Given the description of an element on the screen output the (x, y) to click on. 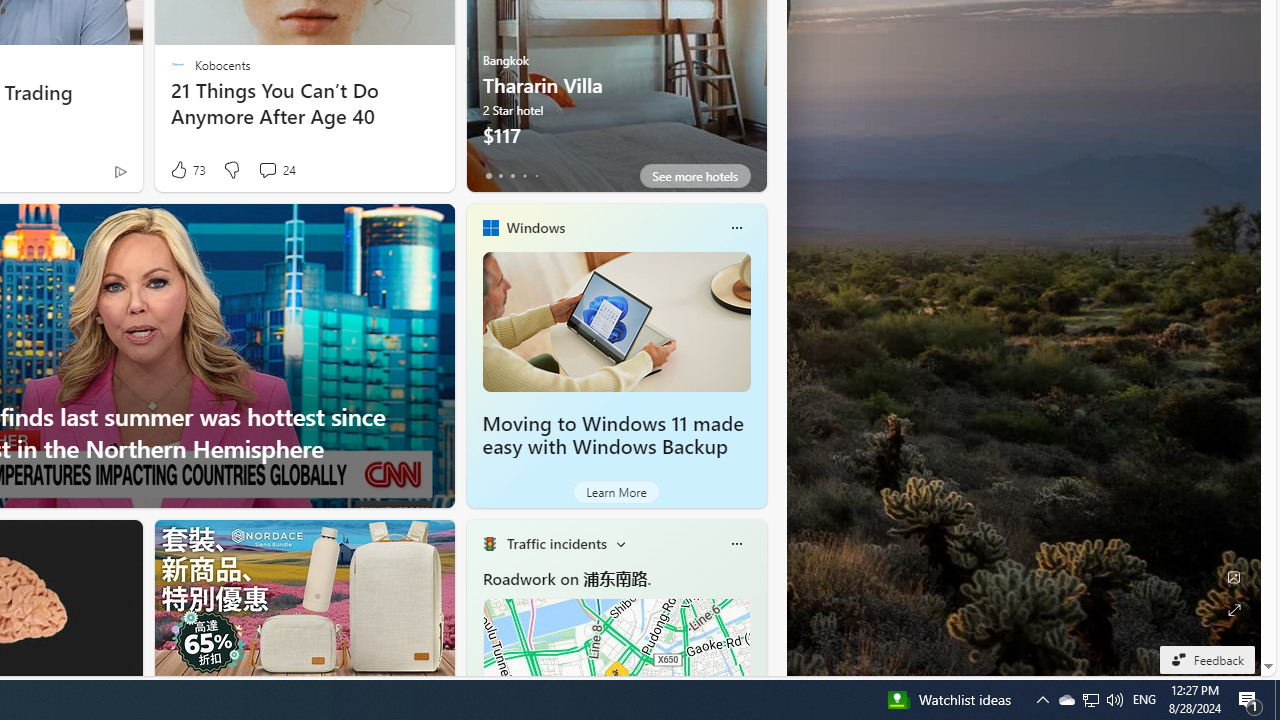
Expand background (1233, 610)
Traffic Title Traffic Light (489, 543)
Change scenarios (620, 543)
View comments 24 Comment (267, 169)
Moving to Windows 11 made easy with Windows Backup (612, 435)
